Given the description of an element on the screen output the (x, y) to click on. 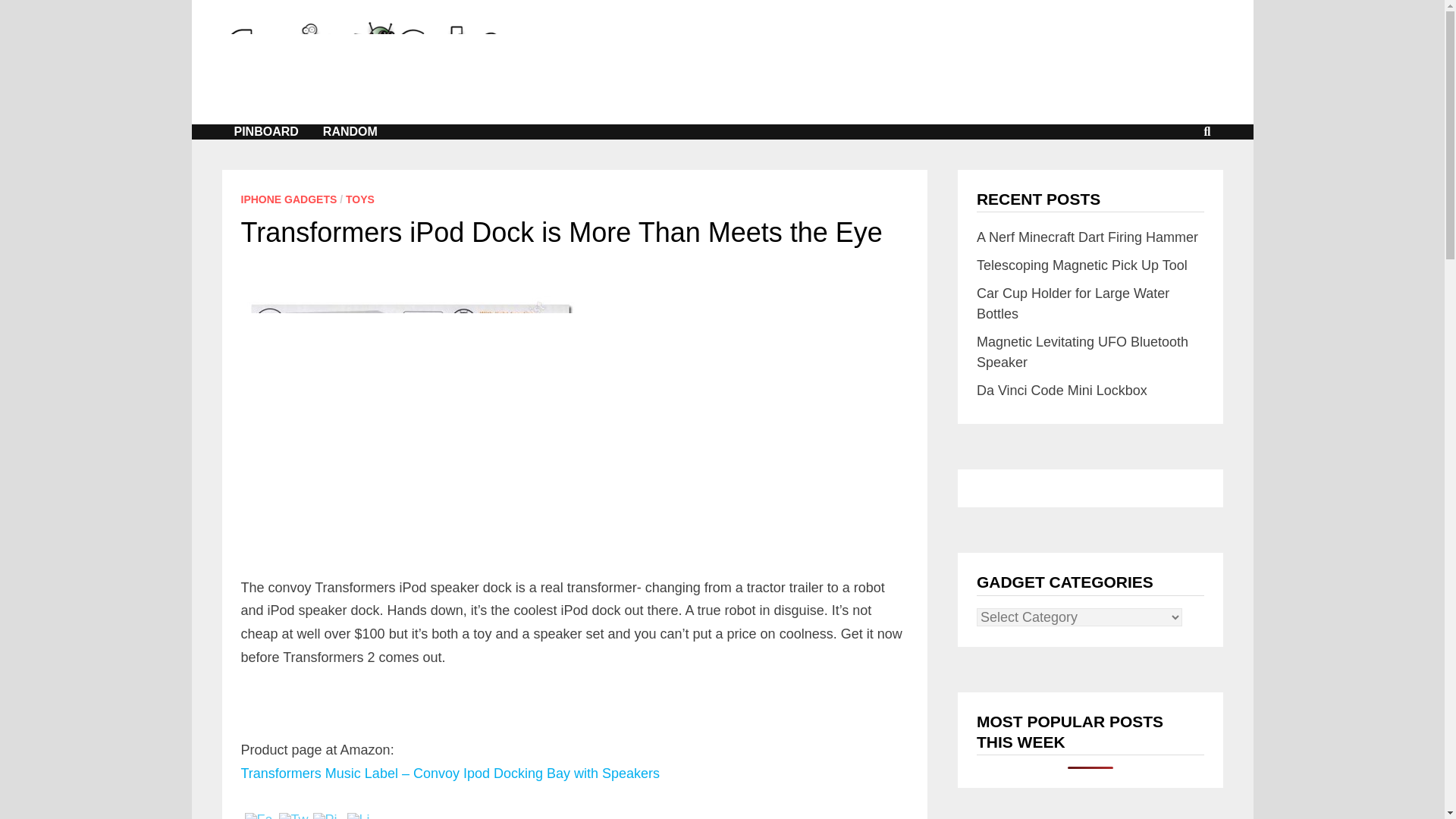
Pinterest (327, 816)
TOYS (360, 199)
LinkedIn (362, 816)
Twitter (293, 816)
Facebook (259, 816)
RANDOM (350, 131)
PINBOARD (265, 131)
IPHONE GADGETS (289, 199)
